Given the description of an element on the screen output the (x, y) to click on. 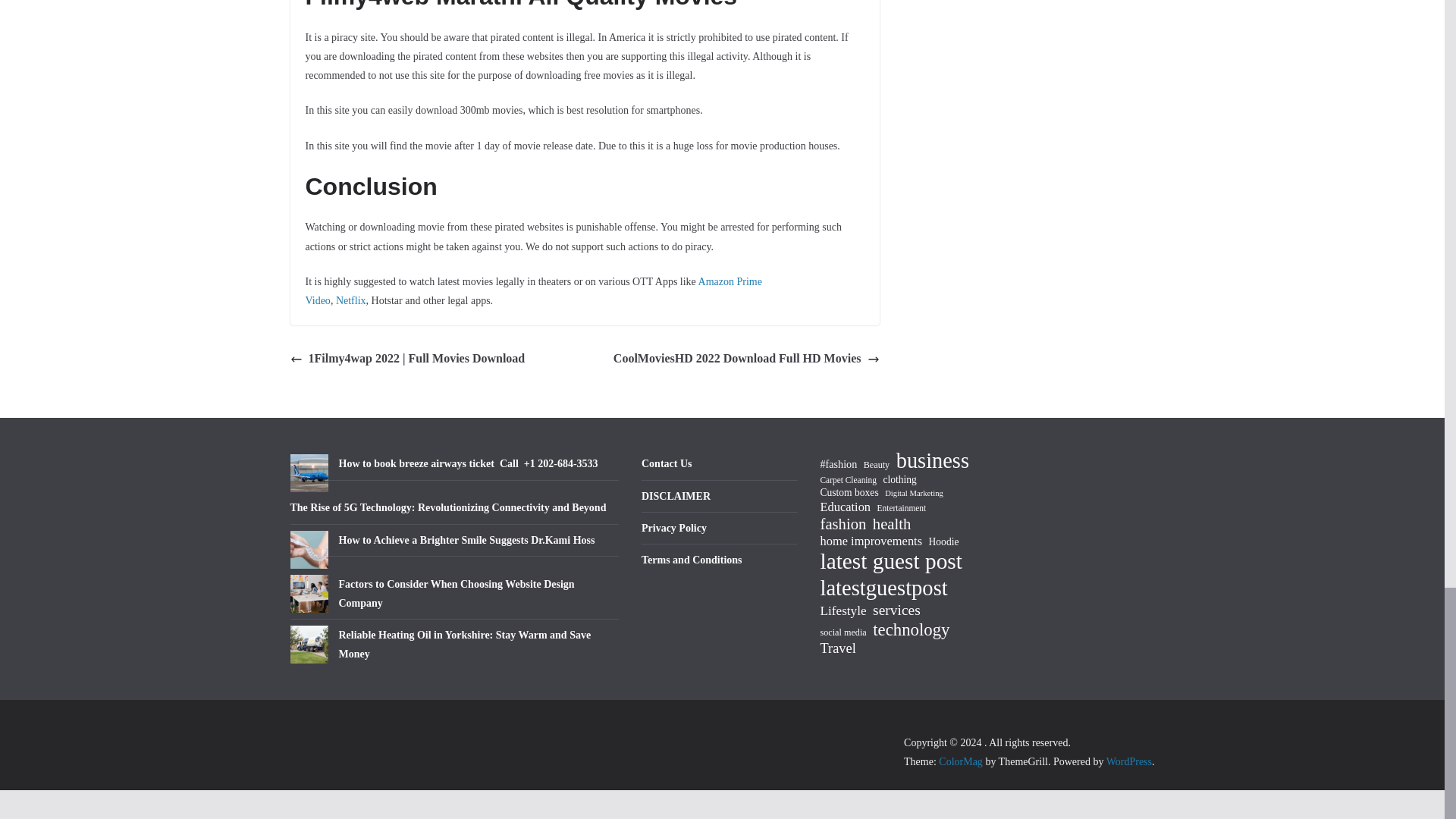
Netflix (351, 300)
CoolMoviesHD 2022 Download Full HD Movies (745, 359)
WordPress (1128, 761)
Amazon Prime Video (532, 291)
ColorMag (960, 761)
